Given the description of an element on the screen output the (x, y) to click on. 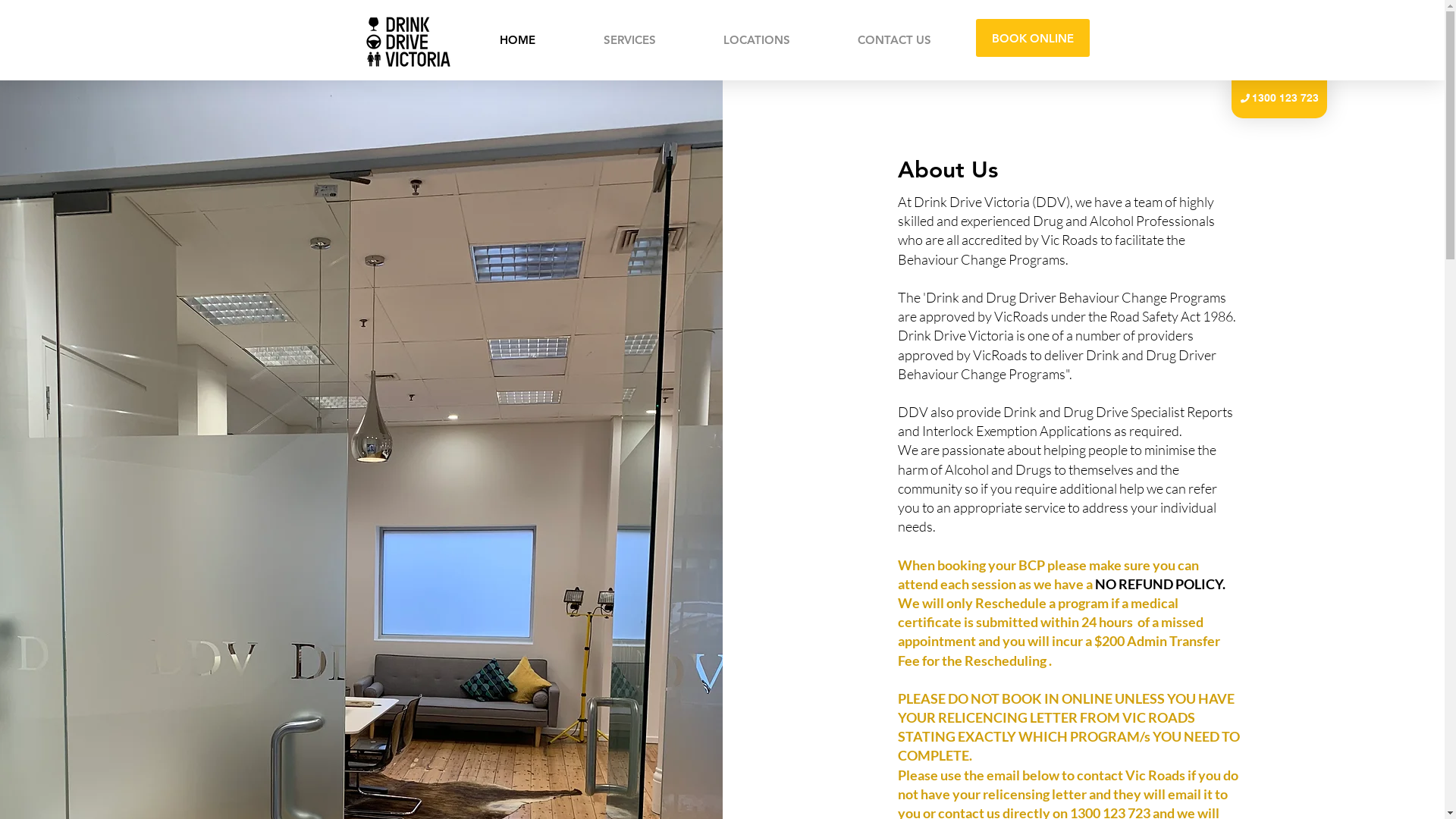
SERVICES Element type: text (628, 40)
LOCATIONS Element type: text (757, 40)
BOOK ONLINE Element type: text (1031, 37)
HOME Element type: text (517, 40)
CONTACT US Element type: text (893, 40)
